Given the description of an element on the screen output the (x, y) to click on. 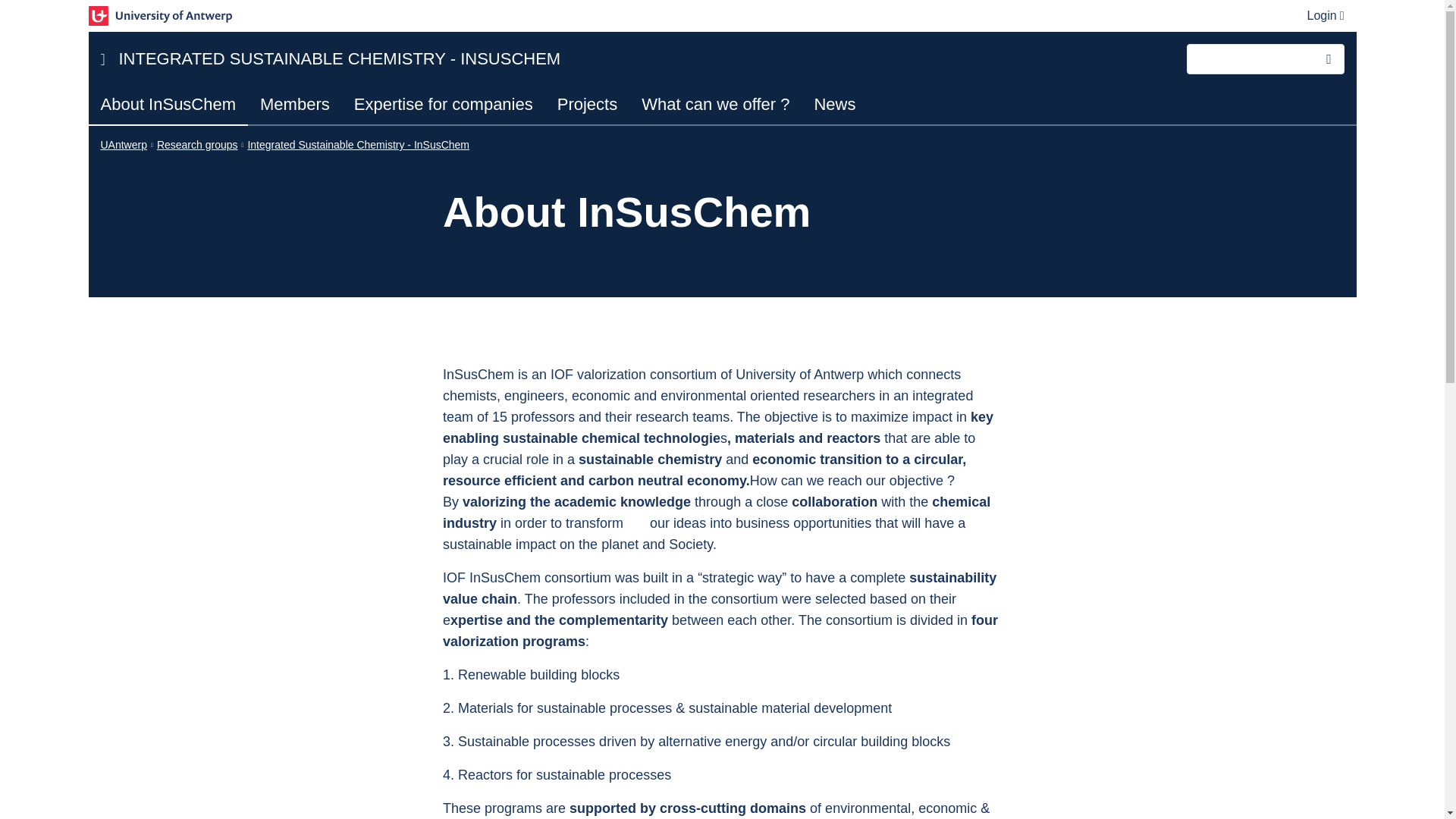
Login (1325, 15)
Integrated Sustainable Chemistry - InSusChem (357, 144)
About InSusChem (167, 106)
Research groups (197, 144)
Expertise for companies (443, 105)
search (1328, 59)
INTEGRATED SUSTAINABLE CHEMISTRY - INSUSCHEM (638, 58)
UAntwerp (123, 144)
News (834, 105)
Projects (586, 105)
